Given the description of an element on the screen output the (x, y) to click on. 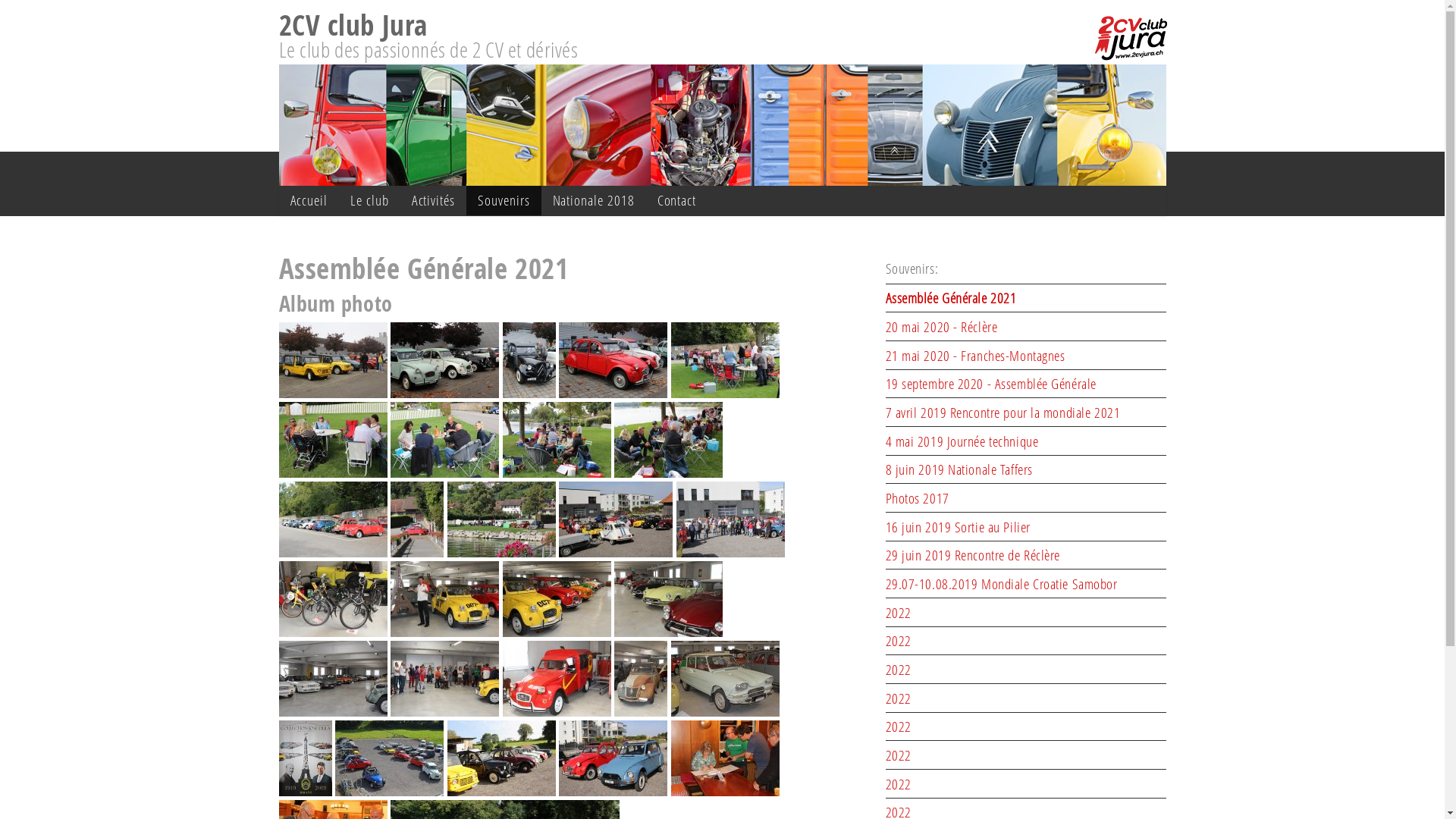
Nationale 2018 Element type: text (593, 200)
2022 Element type: text (898, 698)
2022 Element type: text (898, 784)
2022 Element type: text (898, 669)
Accueil Element type: text (309, 200)
16 juin 2019 Sortie au Pilier Element type: text (957, 526)
Contact Element type: text (677, 200)
2022 Element type: text (898, 755)
7 avril 2019 Rencontre pour la mondiale 2021 Element type: text (1002, 412)
21 mai 2020 - Franches-Montagnes Element type: text (975, 355)
Photos 2017 Element type: text (917, 498)
2022 Element type: text (898, 640)
Souvenirs Element type: text (503, 200)
2022 Element type: text (898, 612)
8 juin 2019 Nationale Taffers Element type: text (958, 469)
Le club Element type: text (369, 200)
29.07-10.08.2019 Mondiale Croatie Samobor Element type: text (1001, 583)
2022 Element type: text (898, 726)
